Given the description of an element on the screen output the (x, y) to click on. 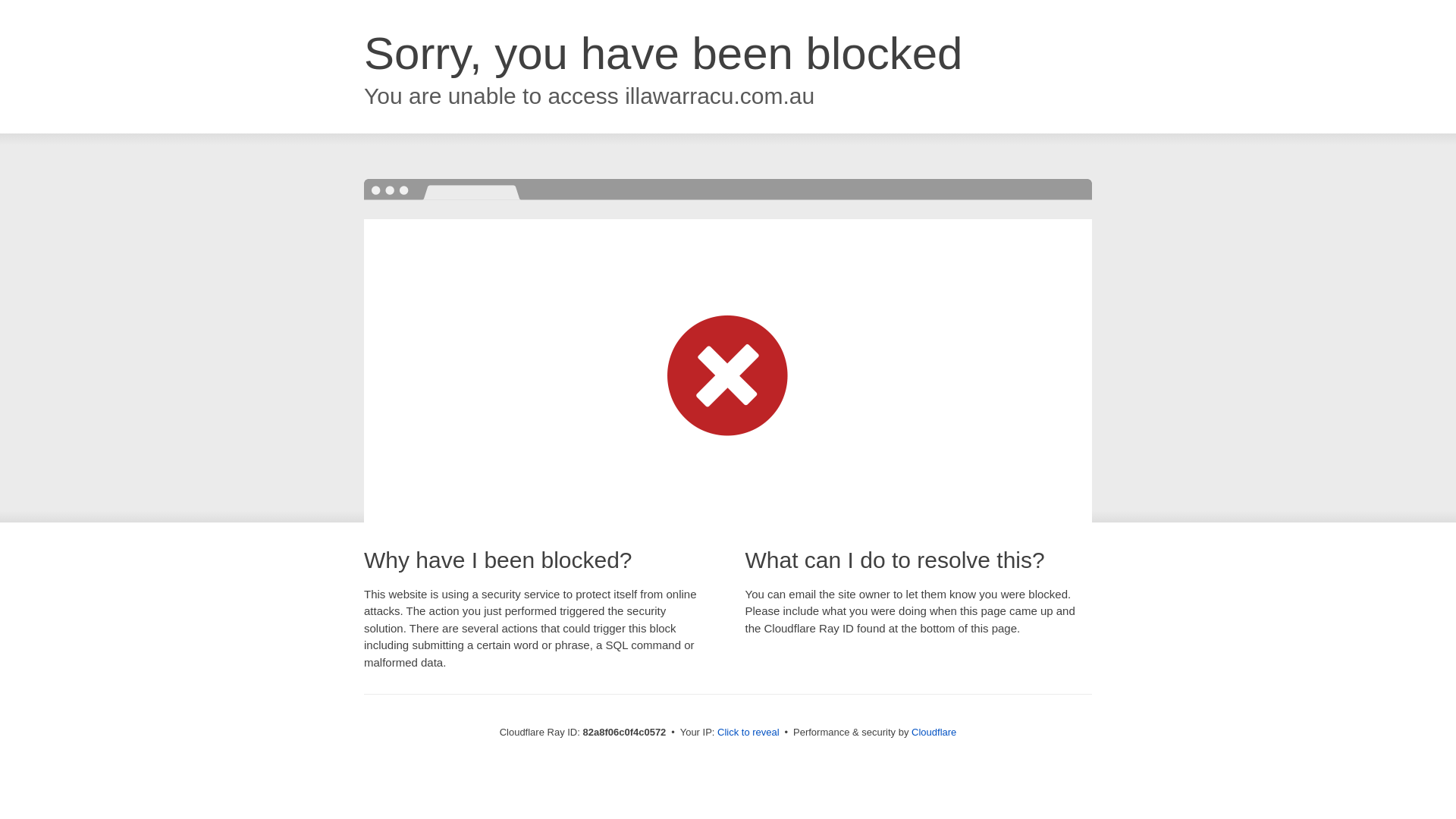
Click to reveal Element type: text (748, 732)
Cloudflare Element type: text (933, 731)
